Given the description of an element on the screen output the (x, y) to click on. 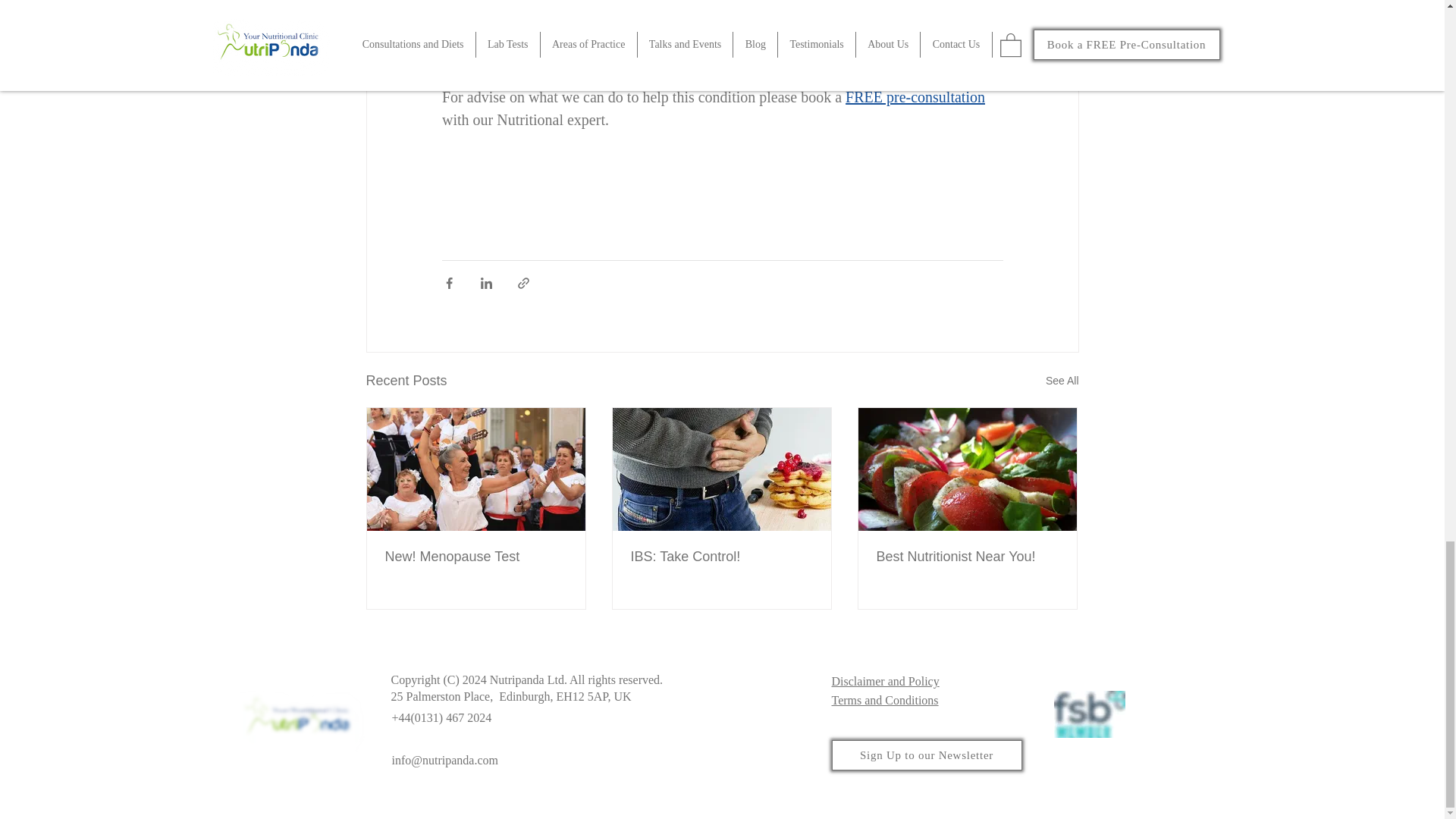
FREE pre-consultation (915, 96)
FSB logo.jpg (1089, 714)
Blocked (410, 792)
25 Palmerston Place,  Edinburgh, EH12 5AP, UK (511, 696)
New! Menopause Test (476, 556)
Terms and Conditions (884, 699)
Best Nutritionist Near You! (967, 556)
Sign Up to our Newsletter (926, 755)
IBS: Take Control! (721, 556)
transparent logo.png (304, 718)
